Given the description of an element on the screen output the (x, y) to click on. 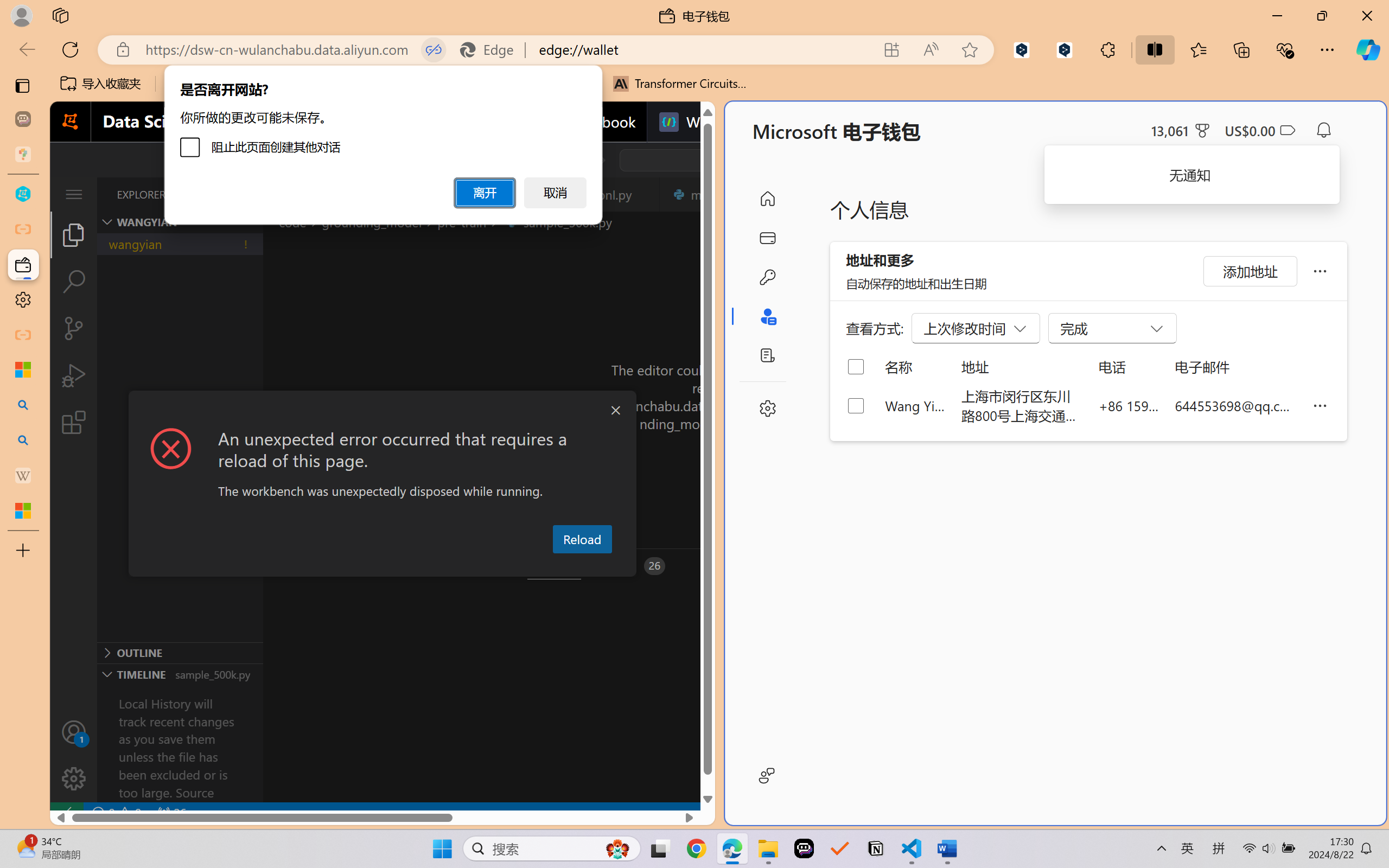
Class: actions-container (381, 410)
Application Menu (73, 194)
+86 159 0032 4640 (1128, 405)
Search (Ctrl+Shift+F) (73, 281)
